Given the description of an element on the screen output the (x, y) to click on. 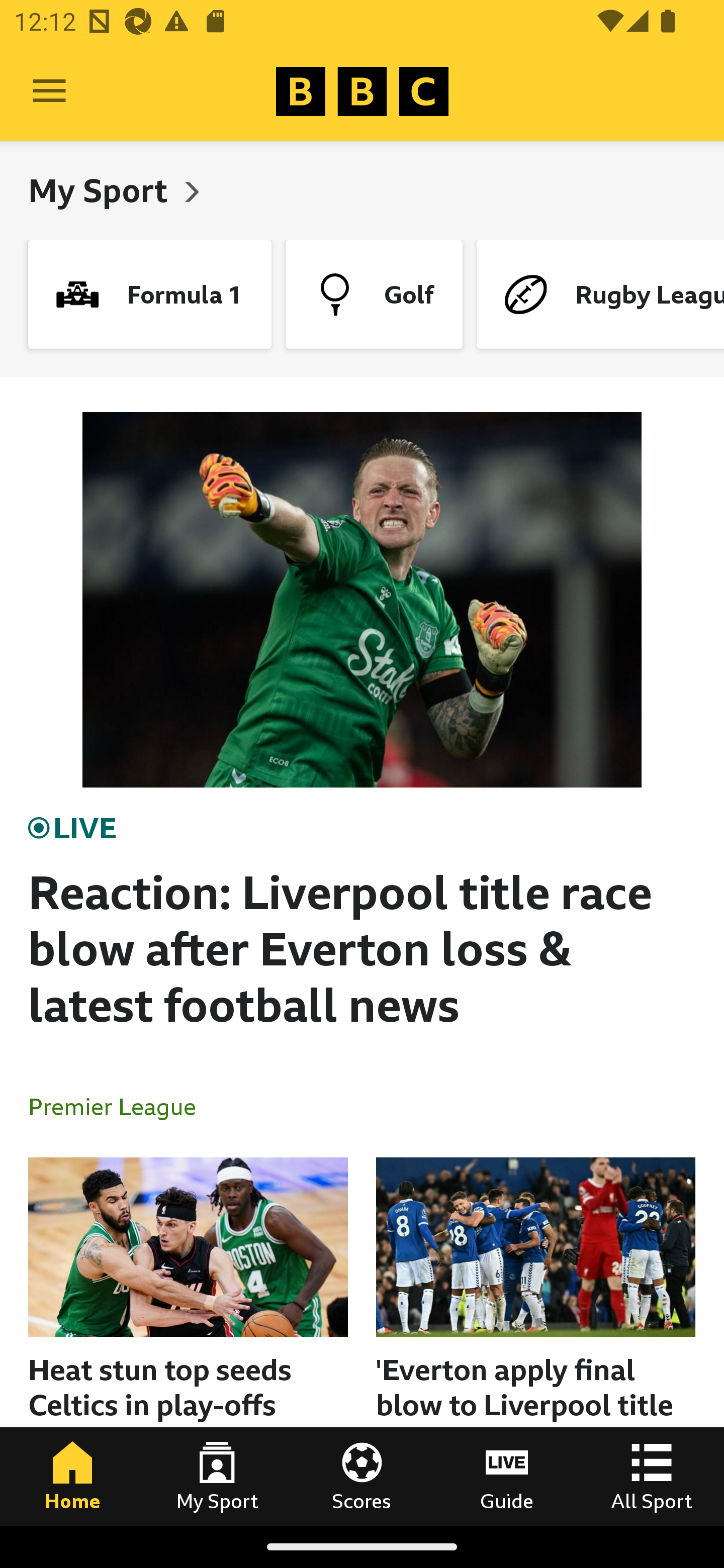
Open Menu (49, 91)
My Sport (101, 190)
Premier League In the section Premier League (119, 1106)
My Sport (216, 1475)
Scores (361, 1475)
Guide (506, 1475)
All Sport (651, 1475)
